Given the description of an element on the screen output the (x, y) to click on. 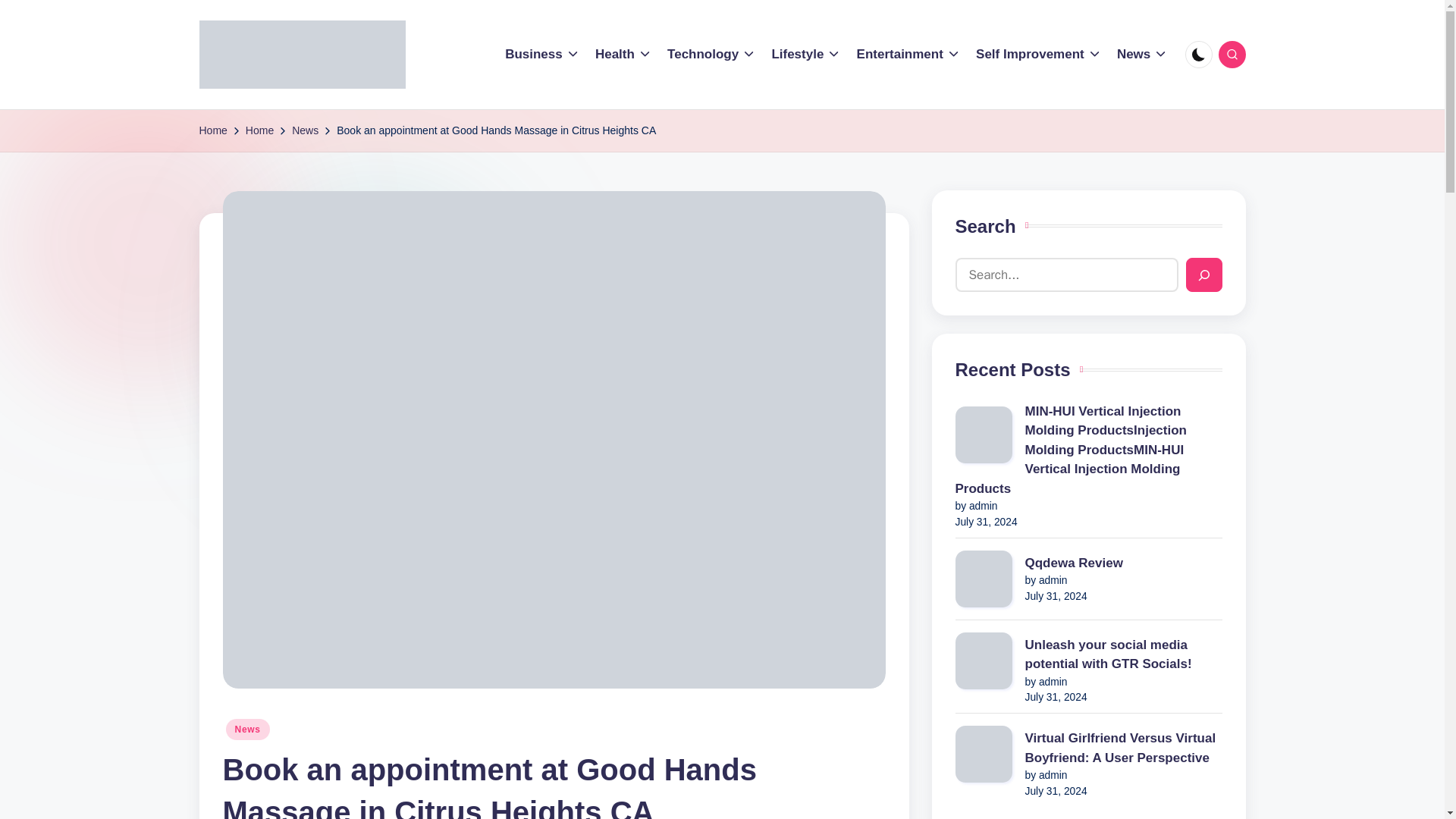
Business (542, 54)
Technology (710, 54)
Health (623, 54)
Lifestyle (806, 54)
Entertainment (908, 54)
